Given the description of an element on the screen output the (x, y) to click on. 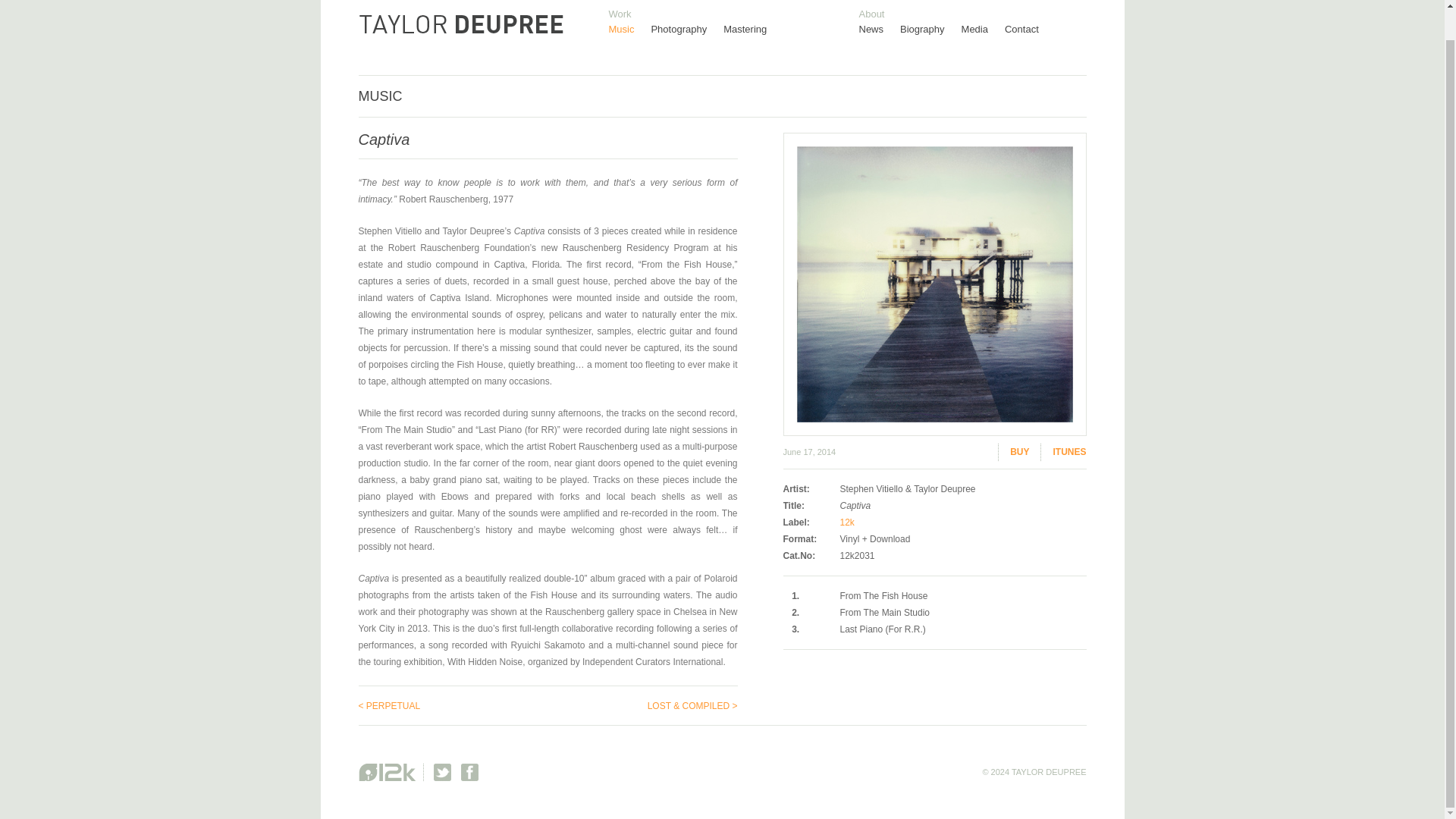
Music (629, 29)
ITUNES (1063, 452)
Photography (686, 29)
BUY (1013, 452)
Media (982, 29)
Biography (929, 29)
TAYLOR DEUPREE (460, 28)
Contact (1029, 29)
Mastering (753, 29)
12k (847, 521)
News (879, 29)
